Given the description of an element on the screen output the (x, y) to click on. 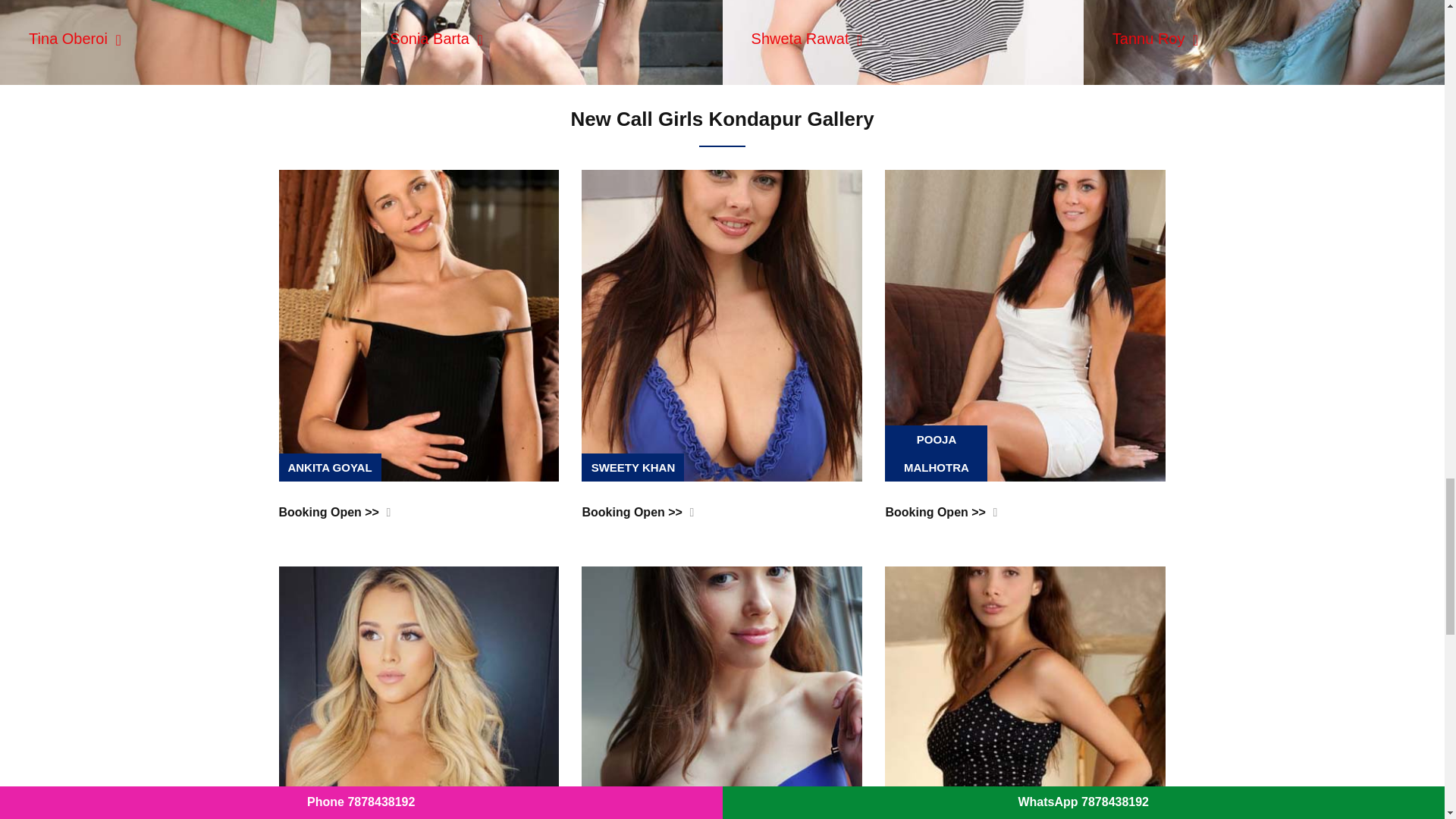
Shweta Rawat (807, 38)
Sonia Barta (435, 38)
Tannu Roy (1155, 38)
Tina Oberoi (74, 38)
